Given the description of an element on the screen output the (x, y) to click on. 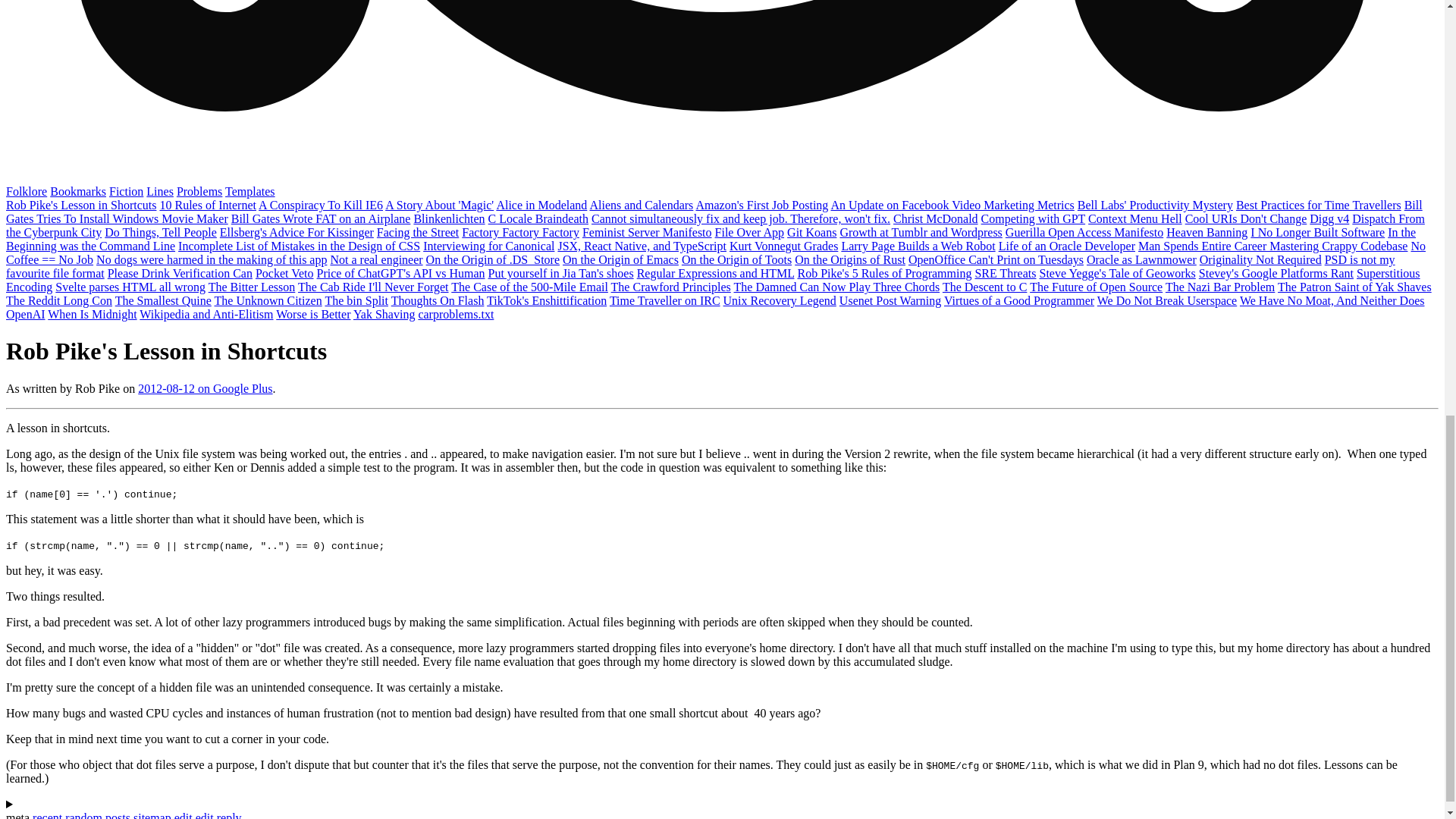
Dispatch From the Cyberpunk City (715, 225)
File Over App (749, 232)
Heaven Banning (1206, 232)
Amazon's First Job Posting (761, 205)
10 Rules of Internet (207, 205)
Factory Factory Factory (520, 232)
I No Longer Built Software (1317, 232)
Bookmarks (77, 191)
Do Things, Tell People (160, 232)
Aliens and Calendars (641, 205)
Feminist Server Manifesto (646, 232)
Blinkenlichten (448, 218)
Christ McDonald (935, 218)
Cool URIs Don't Change (1246, 218)
Competing with GPT (1033, 218)
